Given the description of an element on the screen output the (x, y) to click on. 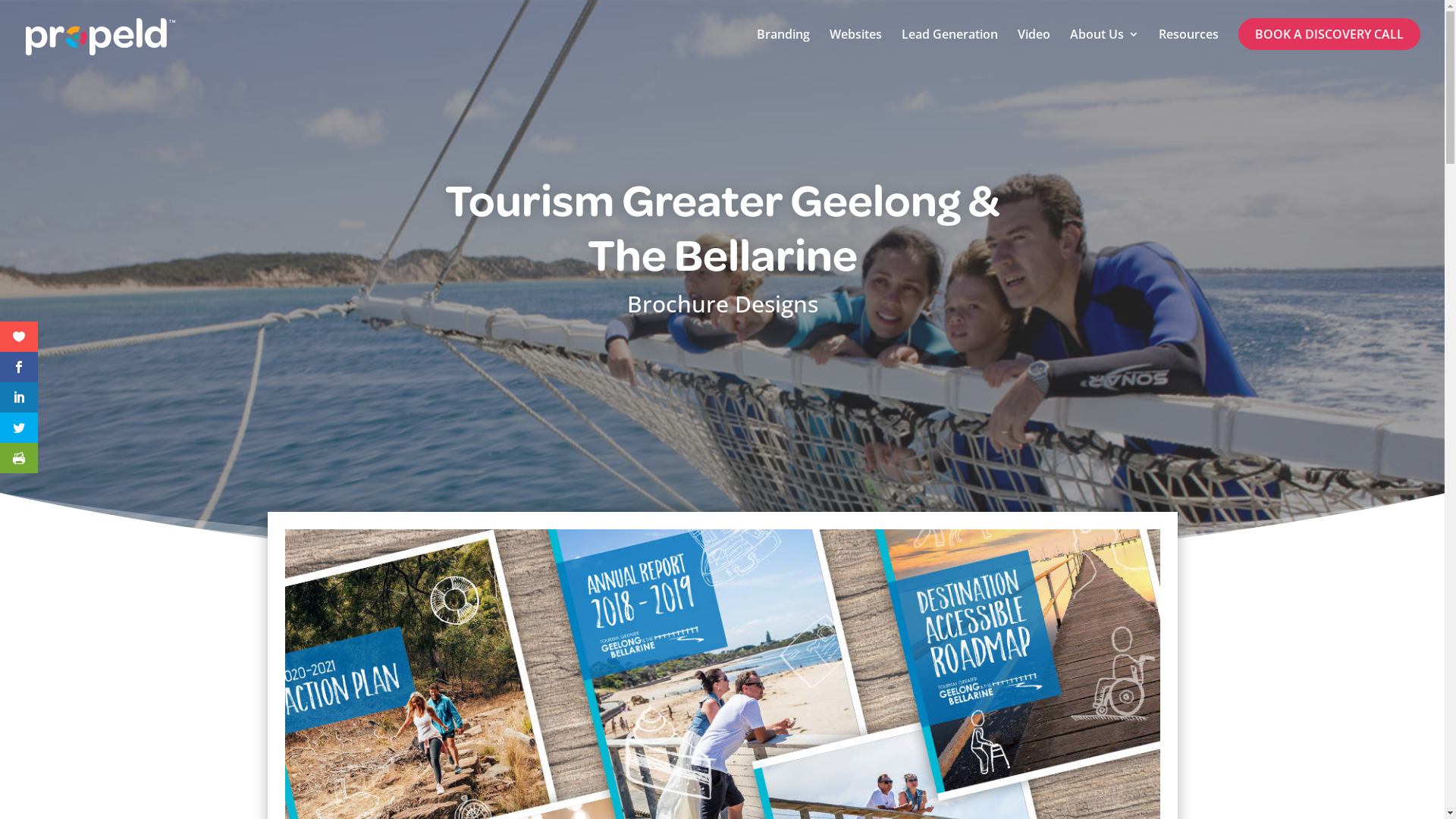
Lead Generation Element type: text (949, 50)
Websites Element type: text (855, 50)
Resources Element type: text (1188, 50)
Video Element type: text (1033, 50)
Branding Element type: text (782, 50)
BOOK A DISCOVERY CALL Element type: text (1328, 33)
About Us Element type: text (1104, 50)
